Given the description of an element on the screen output the (x, y) to click on. 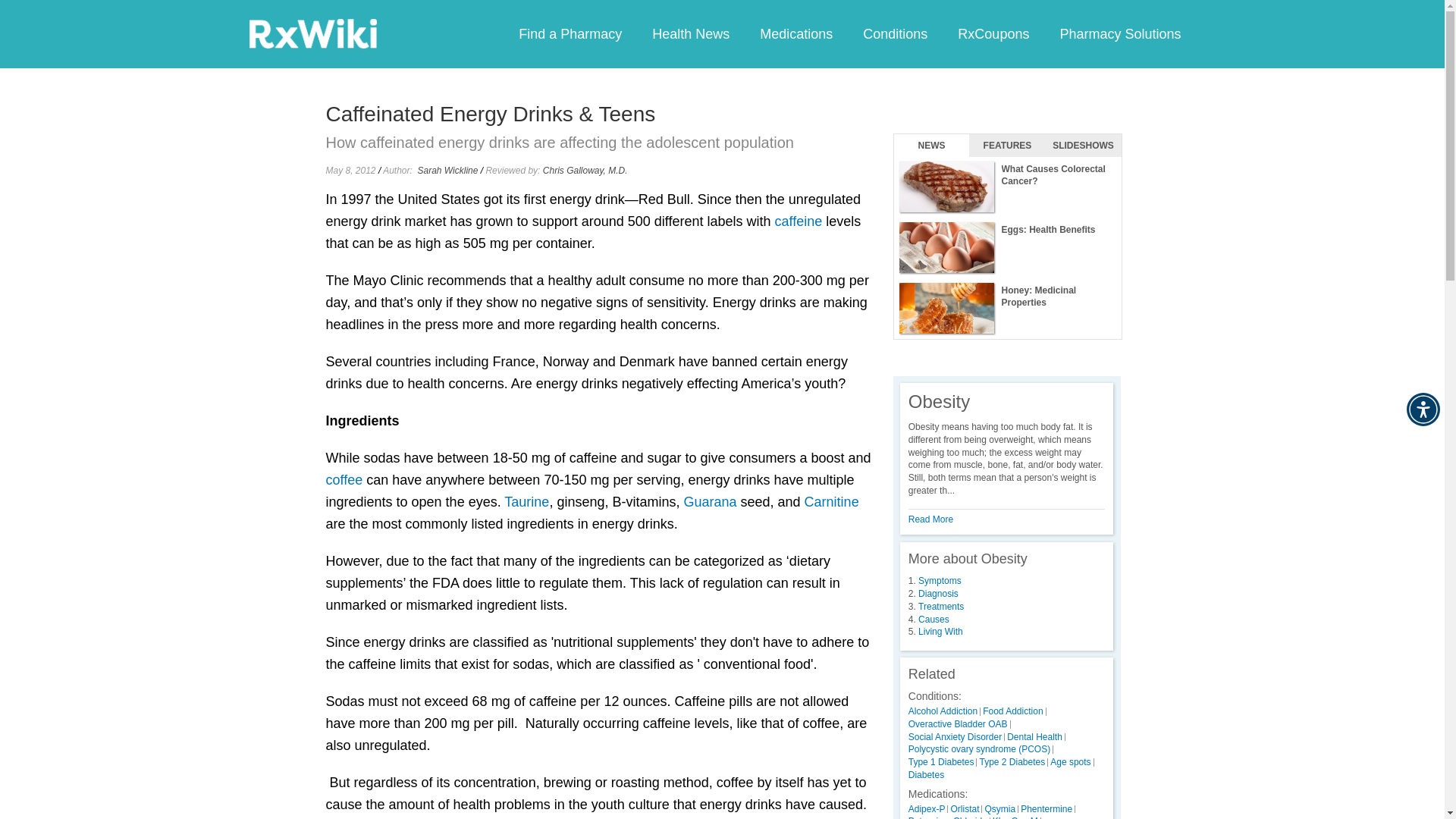
caffeine (798, 221)
Taurine (525, 501)
FEATURES (1007, 145)
RxCoupons (992, 33)
SLIDESHOWS (1083, 145)
NEWS (931, 145)
Chris Galloway, M.D. (585, 170)
RxWiki (312, 32)
Guarana (709, 501)
What Causes Colorectal Cancer? (1007, 187)
Medications (795, 33)
Find a Pharmacy (570, 33)
Carnitine (832, 501)
coffee (344, 479)
Pharmacy Solutions (1119, 33)
